Given the description of an element on the screen output the (x, y) to click on. 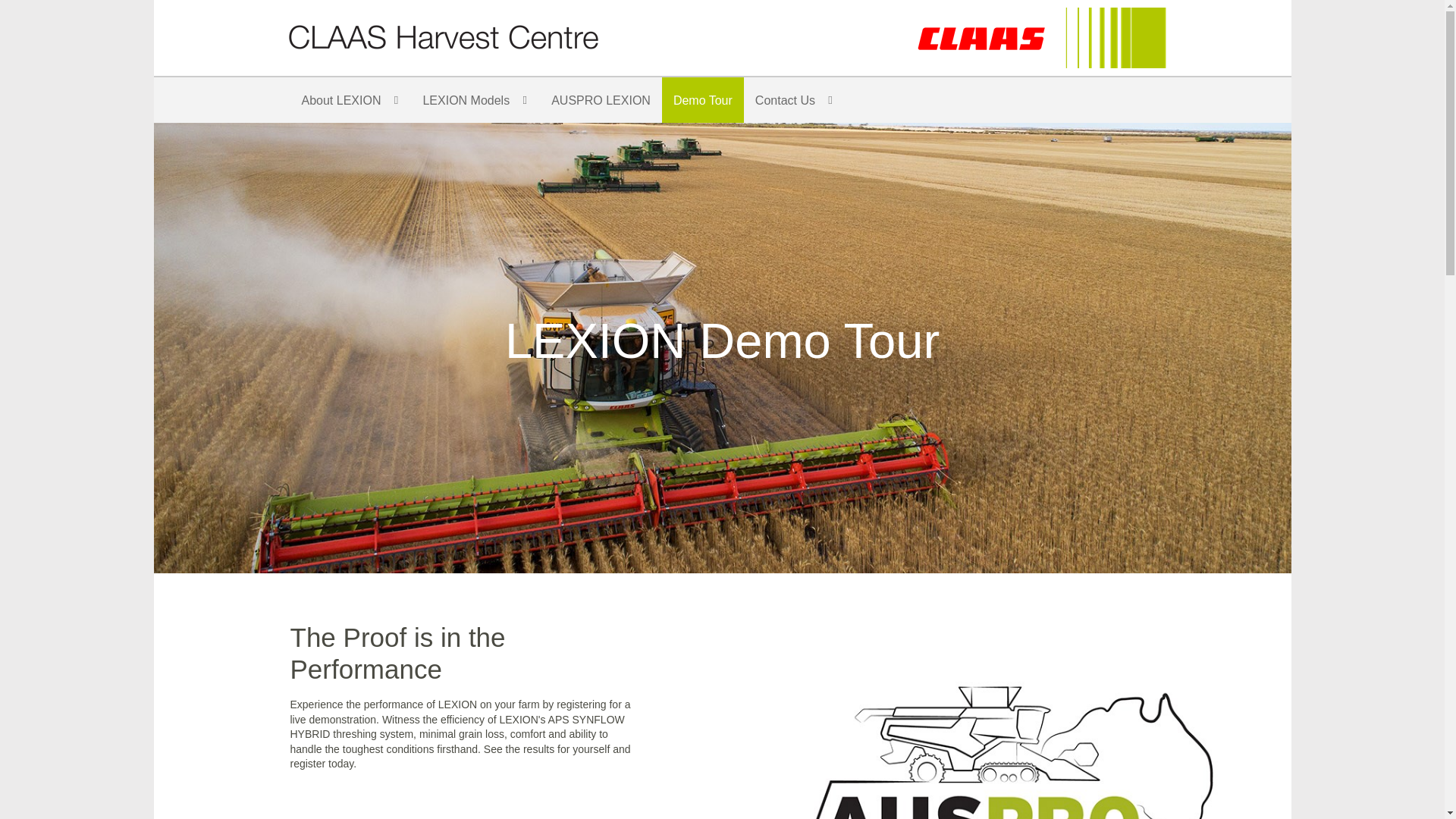
CLAAS GoLEXION (1040, 37)
AUSPRO LEXION (601, 99)
LEXION Models (475, 99)
Contact Us (794, 99)
CLAAS GoLEXION (442, 36)
About LEXION (349, 99)
Demo Tour (703, 99)
